Given the description of an element on the screen output the (x, y) to click on. 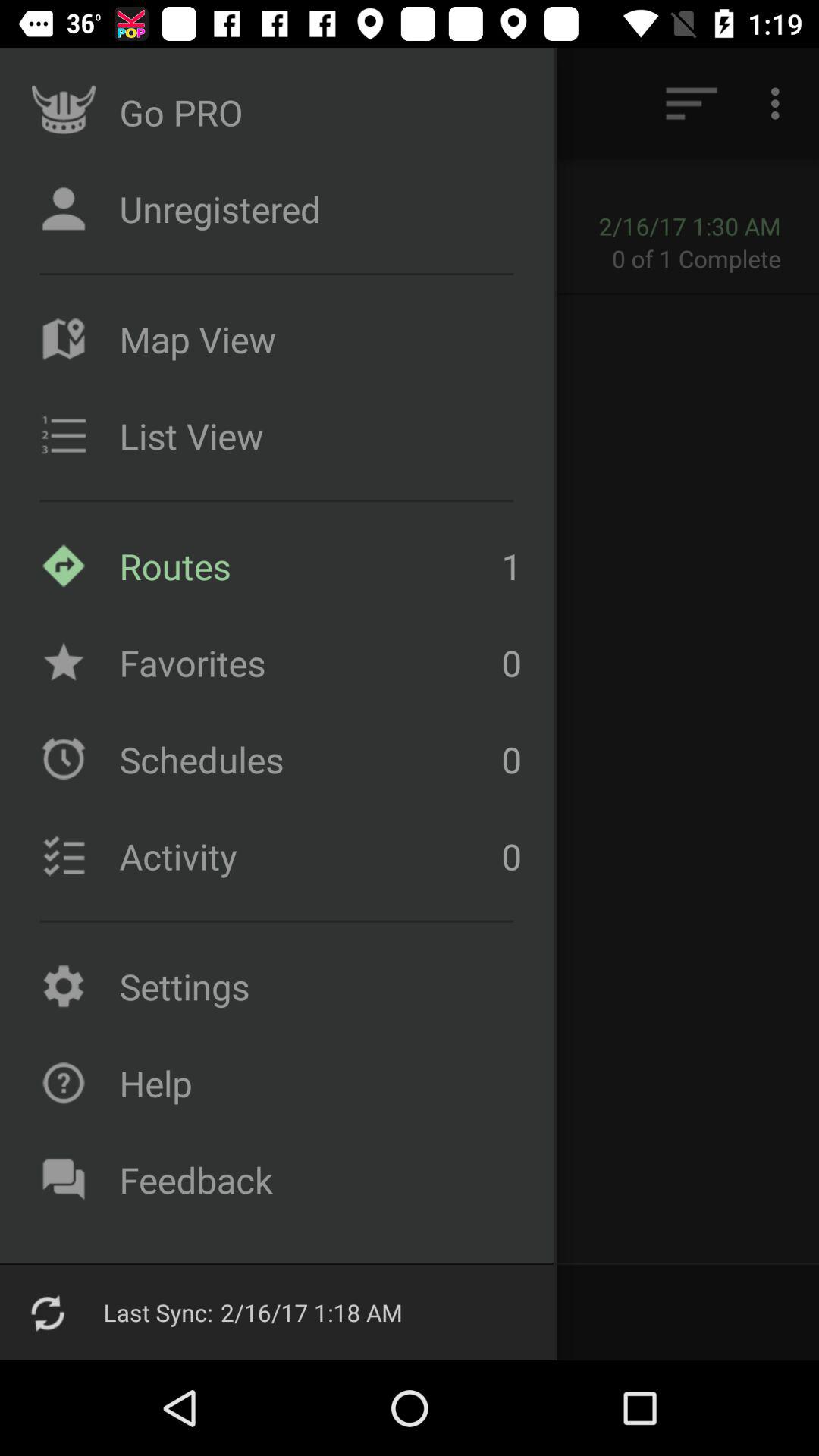
select the go pro icon (63, 112)
click on the feedback icon (63, 1179)
click on the schedules icon (63, 758)
click the unregistered icon (63, 208)
